Given the description of an element on the screen output the (x, y) to click on. 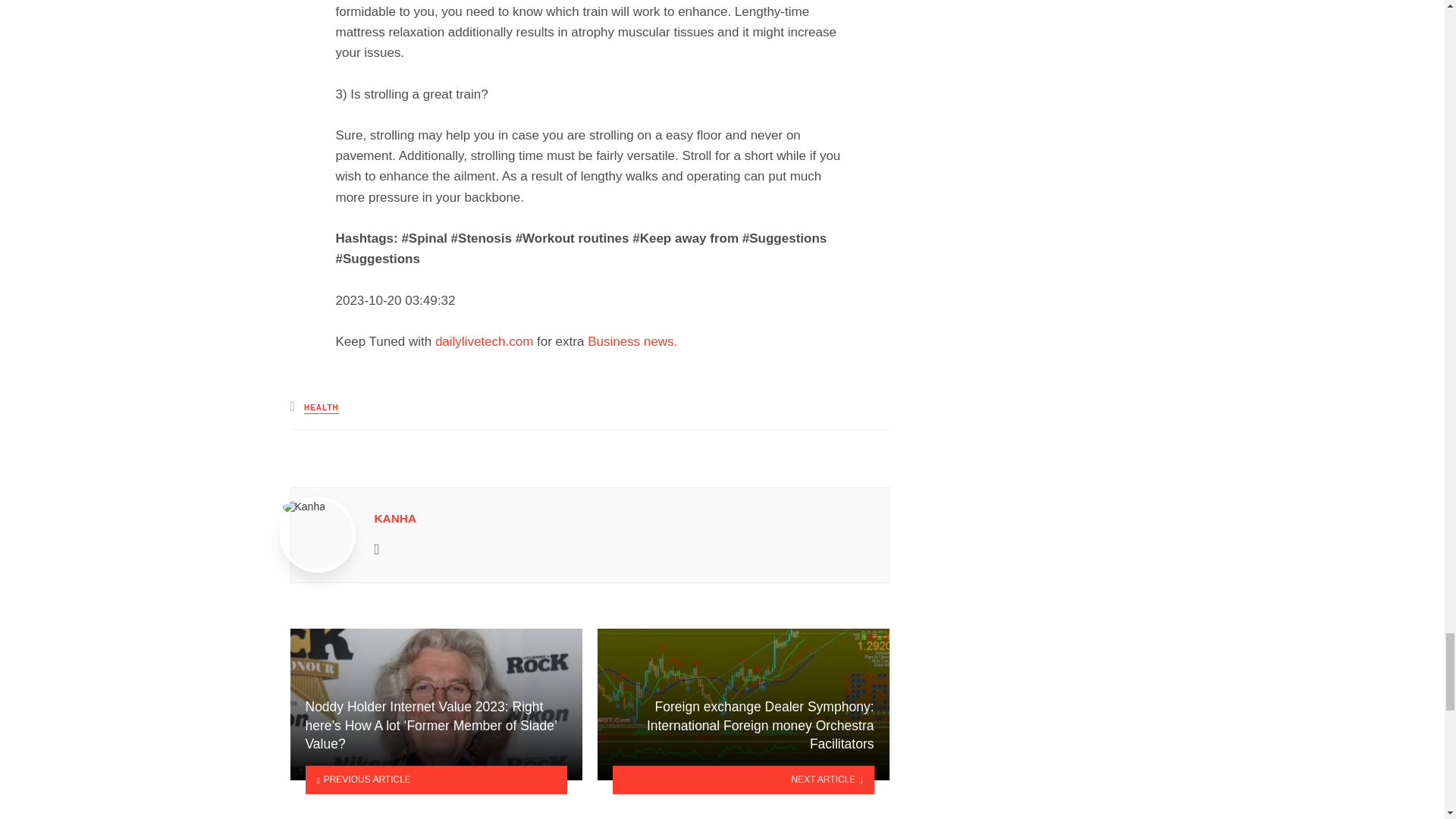
KANHA (395, 517)
Posts by Kanha (395, 517)
HEALTH (321, 408)
PREVIOUS ARTICLE (434, 779)
dailylivetech.com (483, 341)
Business news. (632, 341)
NEXT ARTICLE (742, 779)
